Given the description of an element on the screen output the (x, y) to click on. 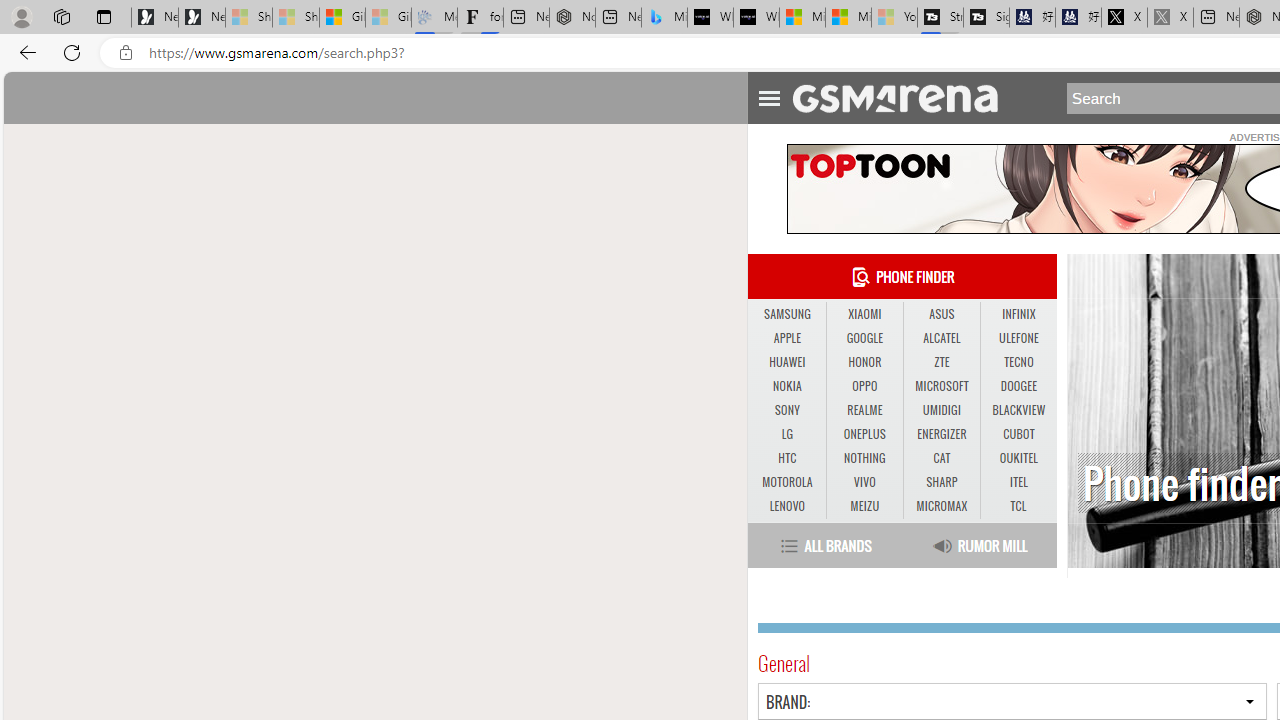
SONY (786, 410)
Toggle Navigation (768, 95)
NOTHING (864, 458)
XIAOMI (864, 314)
SHARP (941, 483)
INFINIX (1018, 314)
MOTOROLA (786, 483)
APPLE (786, 339)
TECNO (1018, 362)
TCL (1018, 506)
ASUS (941, 313)
ITEL (1018, 482)
